Given the description of an element on the screen output the (x, y) to click on. 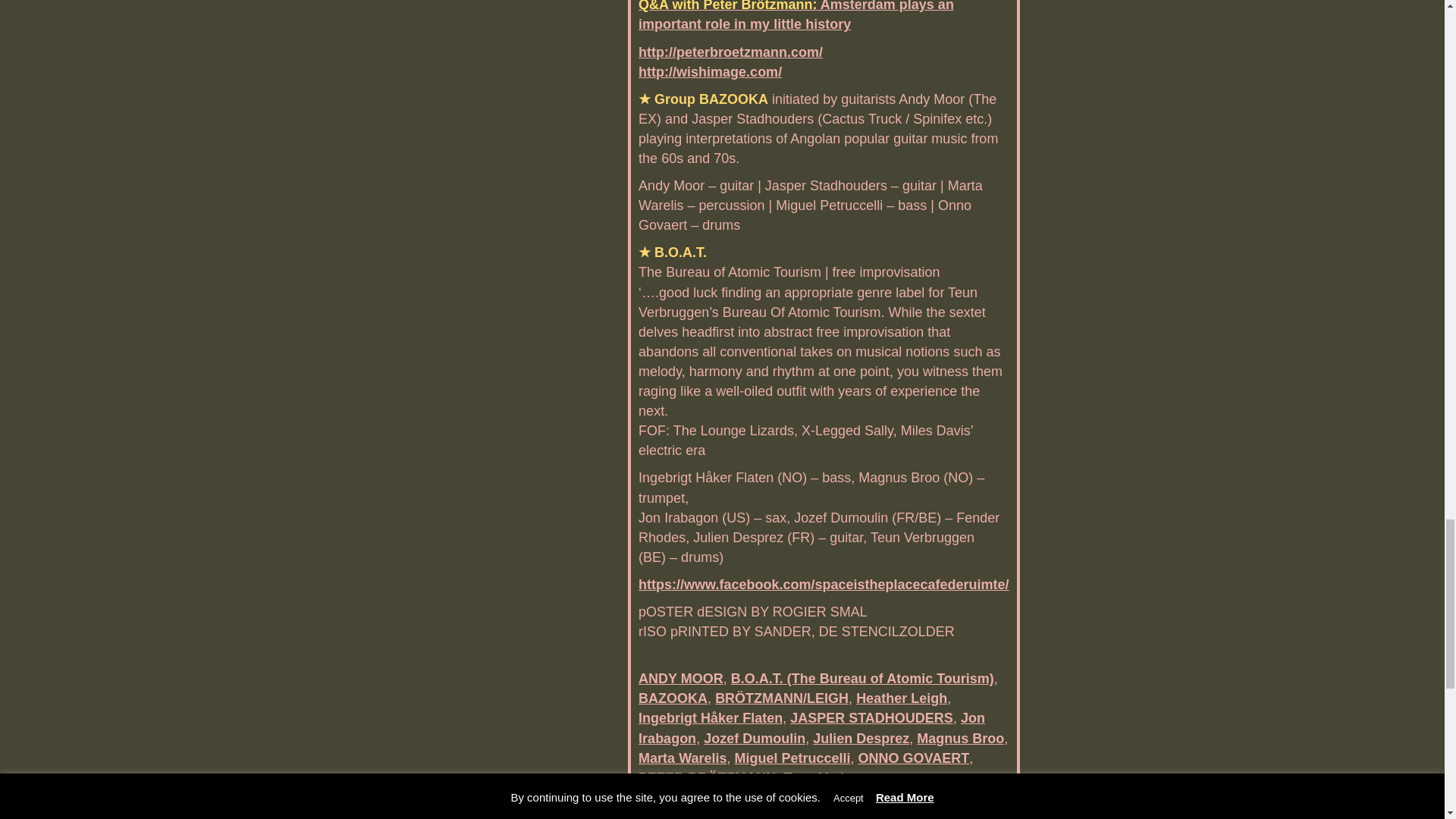
JASPER STADHOUDERS (871, 717)
Teun Verbruggen (839, 777)
Jozef Dumoulin (754, 738)
Heather Leigh (901, 698)
Magnus Broo (960, 738)
Julien Desprez (860, 738)
Marta Warelis (682, 758)
BAZOOKA (673, 698)
Jon Irabagon (812, 727)
ONNO GOVAERT (914, 758)
